Given the description of an element on the screen output the (x, y) to click on. 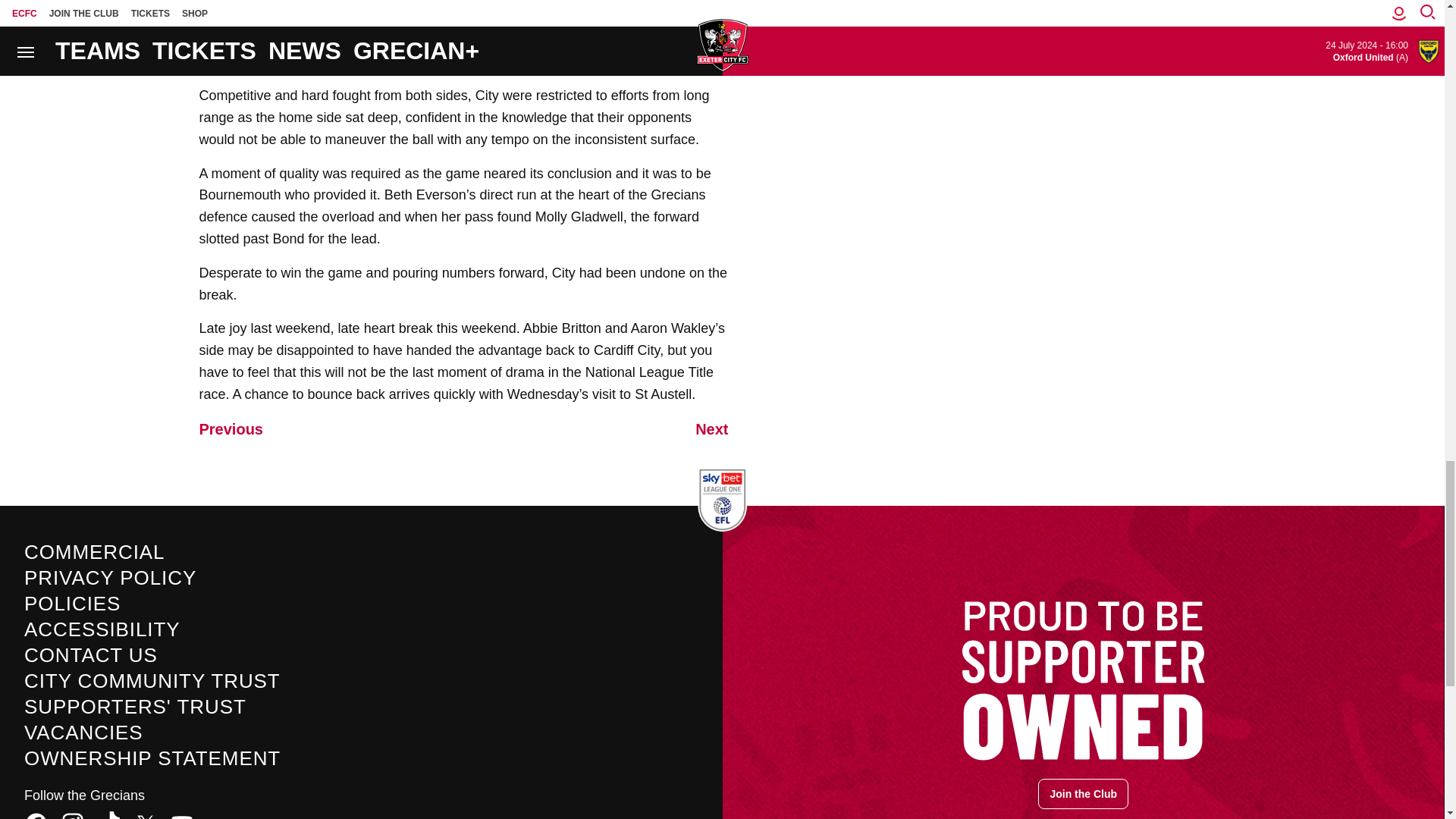
Facebook (36, 815)
TikTok icon (108, 815)
X Formally know as Twitter (145, 815)
Instagram (72, 815)
